Given the description of an element on the screen output the (x, y) to click on. 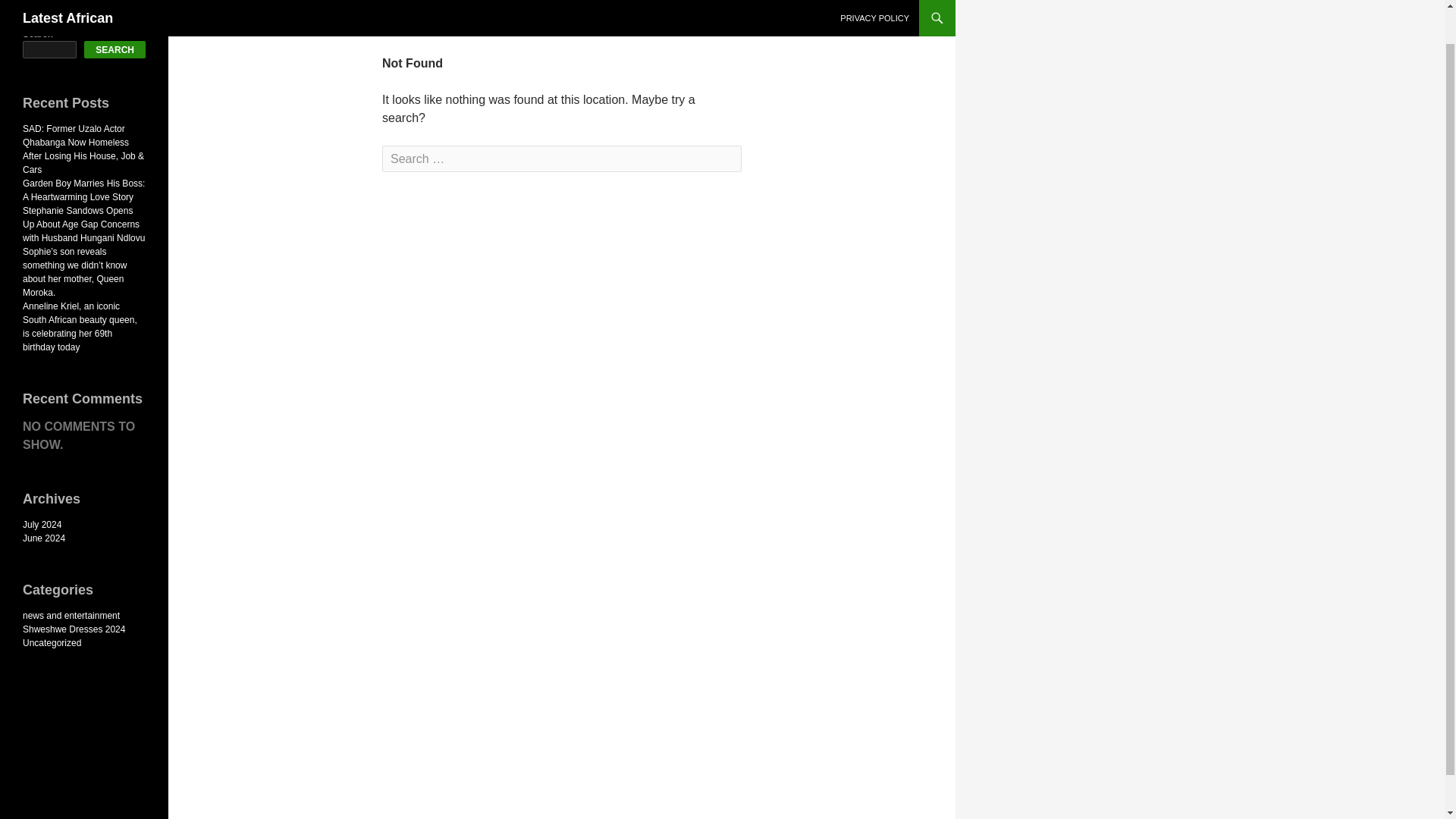
SEARCH (114, 49)
news and entertainment (71, 615)
Shweshwe Dresses 2024 (74, 629)
Uncategorized (52, 643)
July 2024 (42, 524)
June 2024 (44, 538)
Garden Boy Marries His Boss: A Heartwarming Love Story (83, 190)
